Given the description of an element on the screen output the (x, y) to click on. 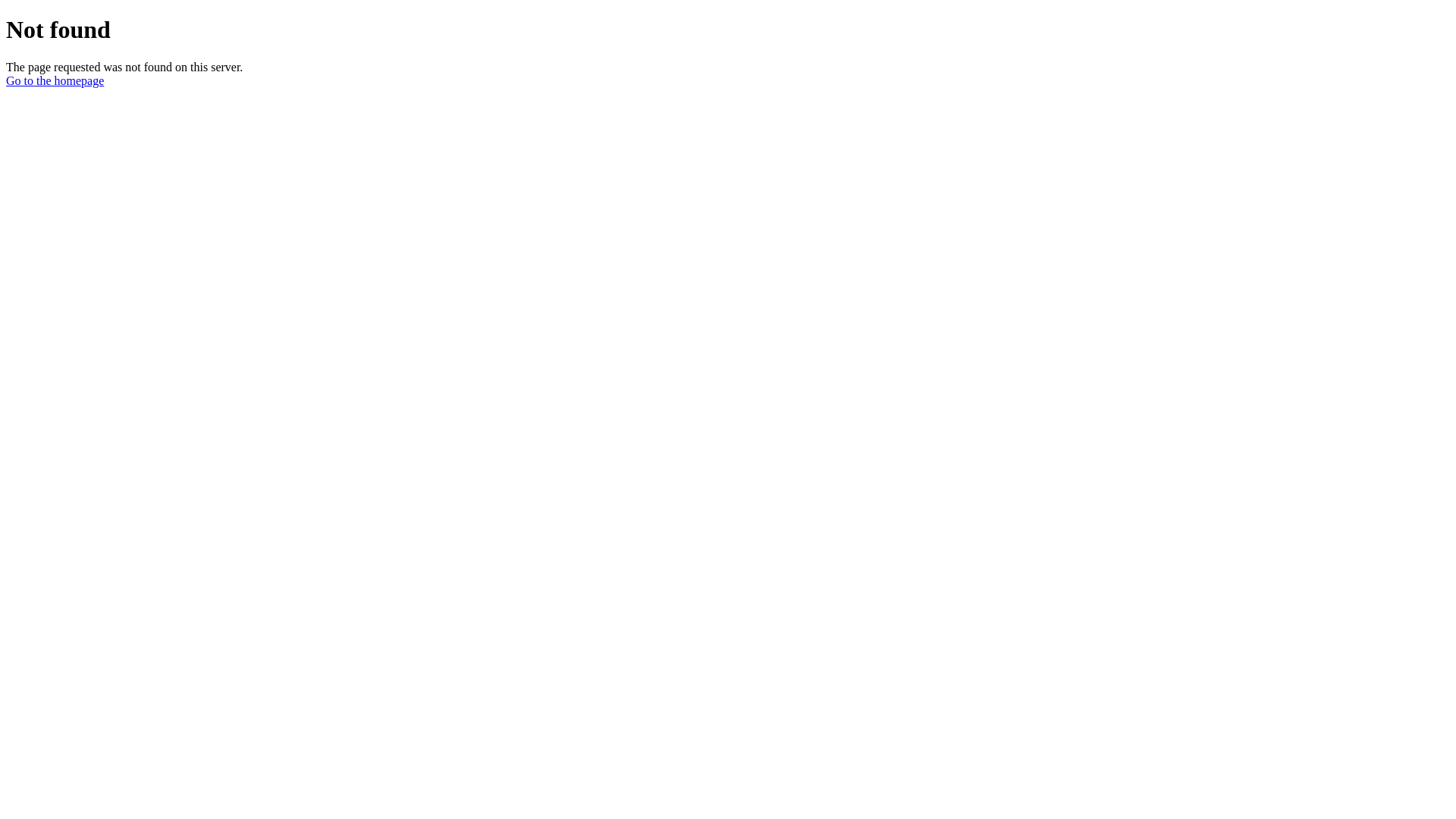
Go to the homepage Element type: text (54, 80)
